Given the description of an element on the screen output the (x, y) to click on. 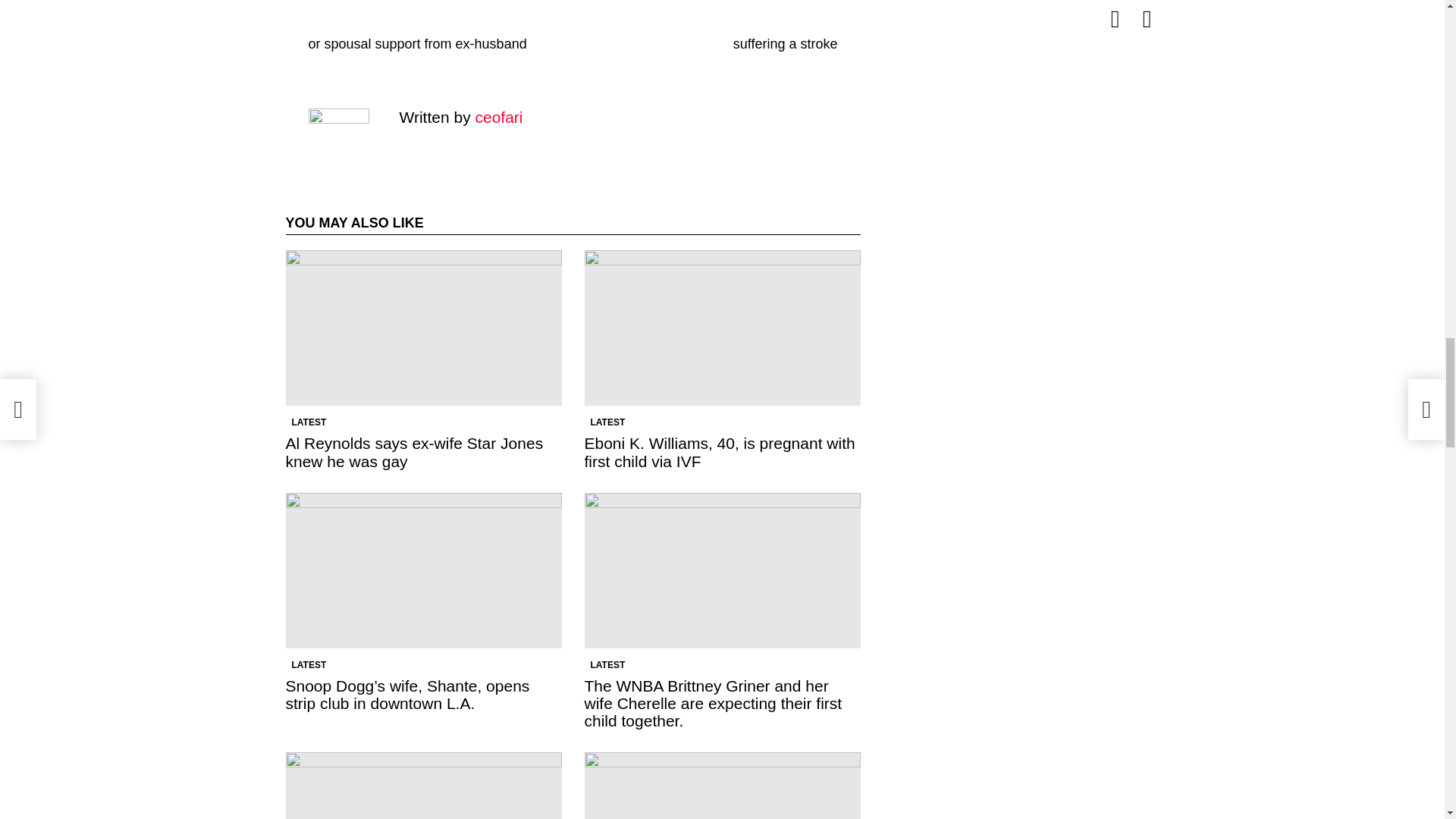
LATEST (606, 421)
LATEST (308, 421)
ceofari (498, 117)
Al Reynolds says ex-wife Star Jones knew he was gay (422, 327)
Al Reynolds says ex-wife Star Jones knew he was gay (414, 451)
Eboni K. Williams, 40, is pregnant with first child via IVF (718, 451)
LATEST (606, 664)
Eboni K. Williams, 40, is pregnant with first child via IVF (721, 327)
LATEST (308, 664)
